Given the description of an element on the screen output the (x, y) to click on. 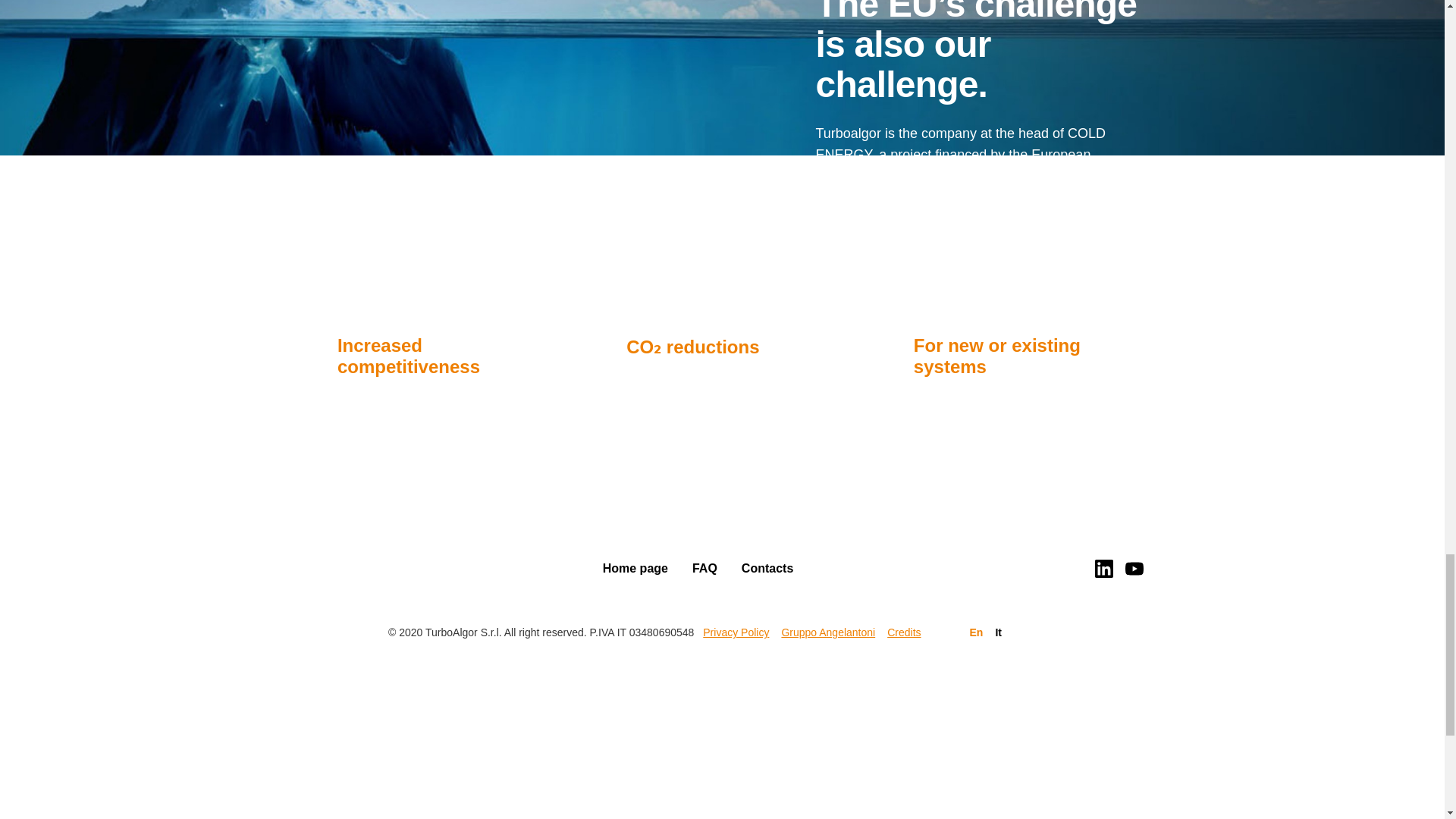
FAQ (705, 567)
Home page (635, 567)
Privacy Policy (735, 632)
Contacts (767, 567)
Credits (903, 632)
Gruppo Angelantoni (827, 632)
